Given the description of an element on the screen output the (x, y) to click on. 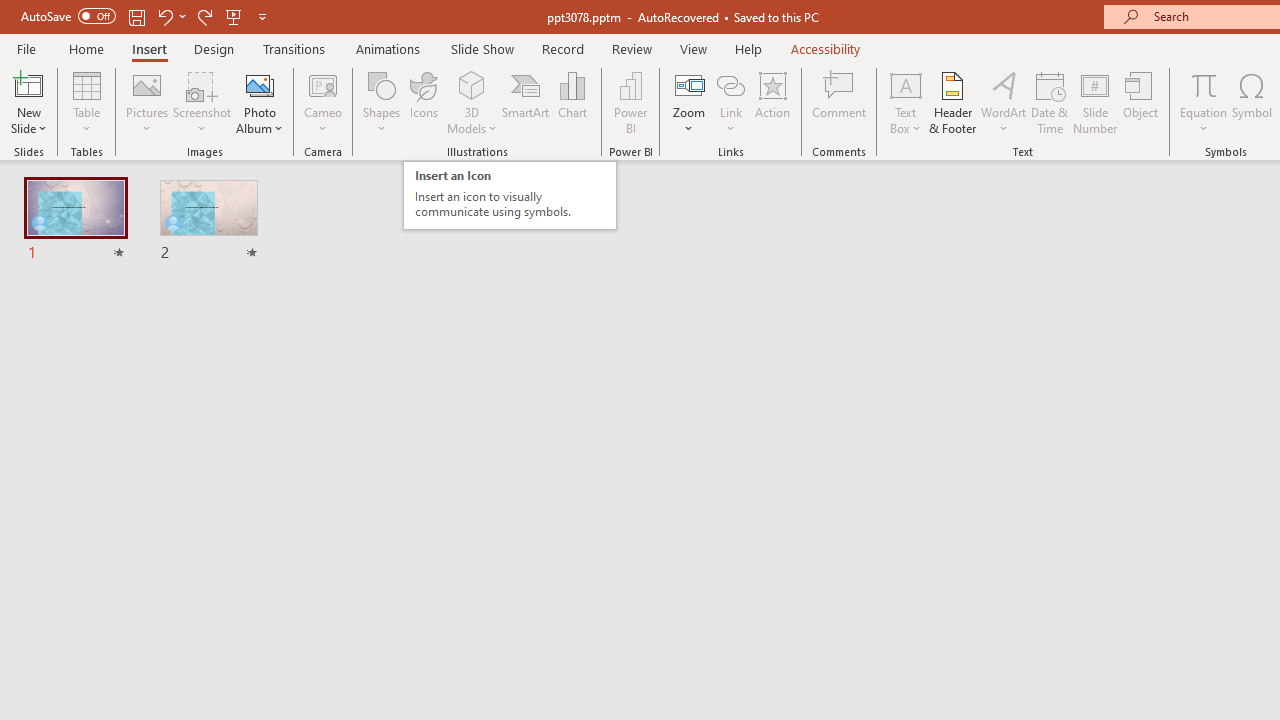
3D Models (472, 102)
Table (86, 102)
Photo Album... (259, 102)
Symbol... (1252, 102)
Comment (839, 102)
